Given the description of an element on the screen output the (x, y) to click on. 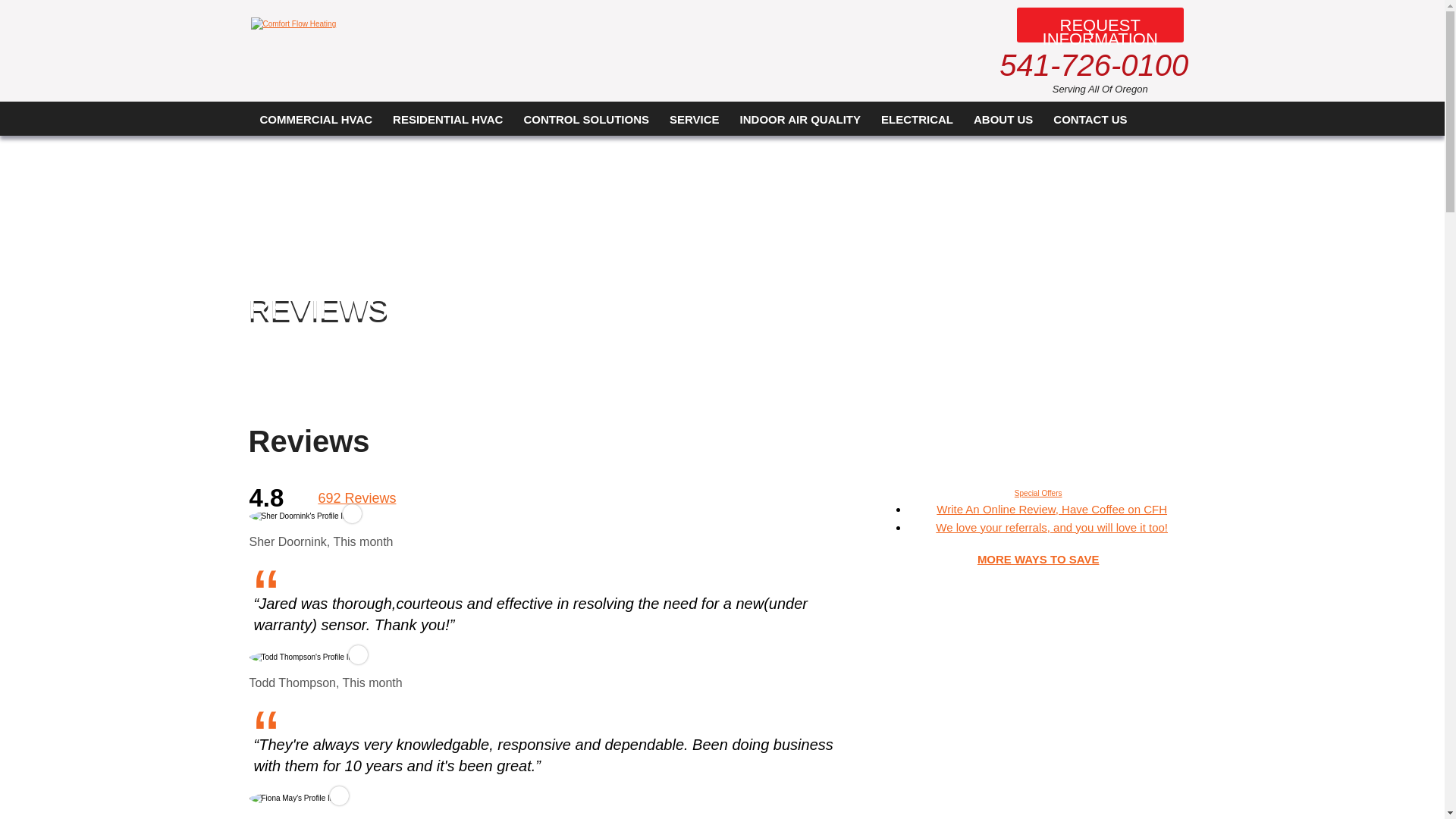
541-726-0100 (1093, 64)
REQUEST INFORMATION (1099, 24)
COMMERCIAL HVAC (316, 118)
CONTROL SOLUTIONS (586, 118)
SERVICE (694, 118)
RESIDENTIAL HVAC (447, 118)
